Given the description of an element on the screen output the (x, y) to click on. 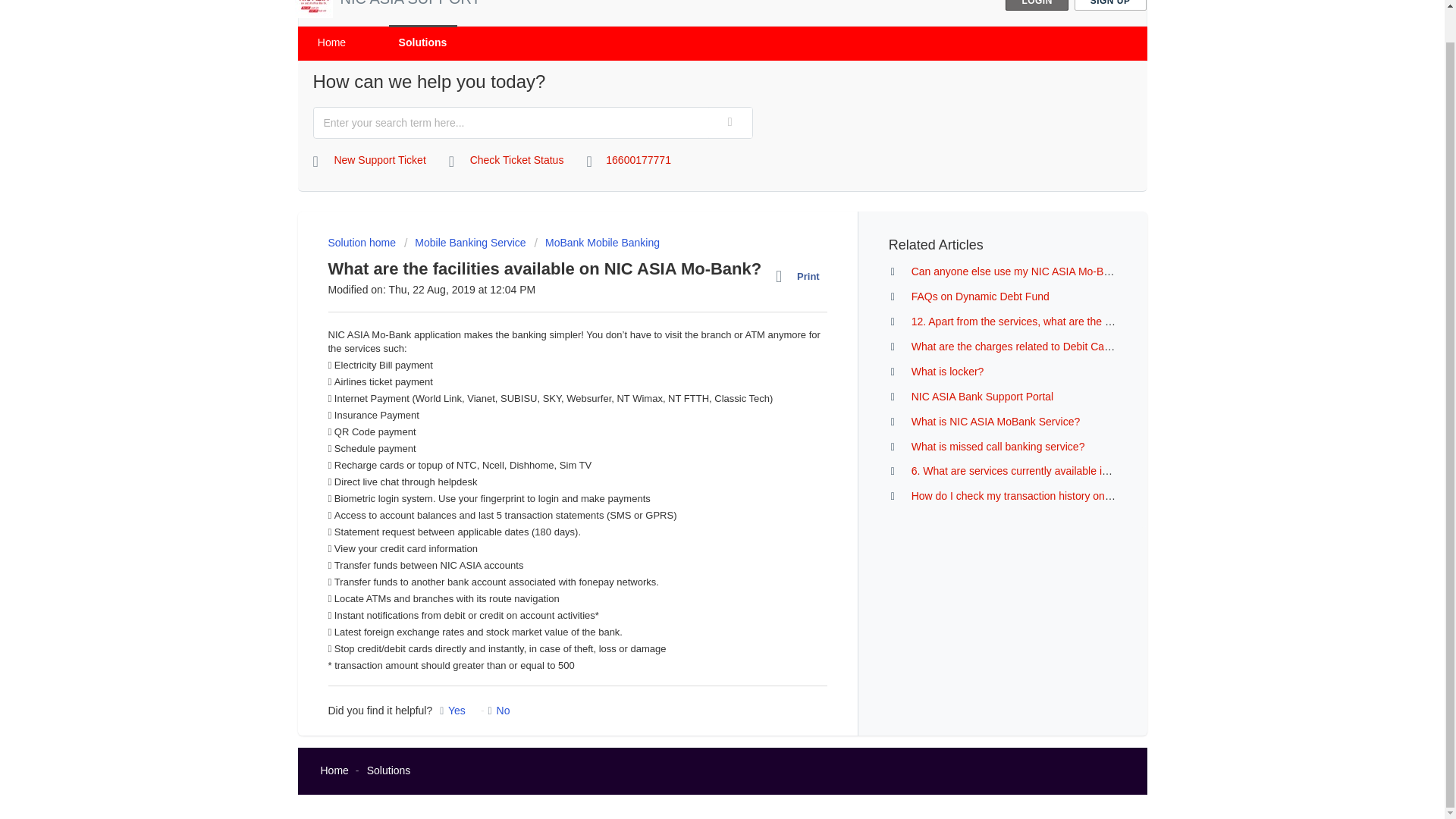
What is NIC ASIA MoBank Service? (995, 421)
What is missed call banking service? (997, 446)
Solutions (388, 770)
Solutions (422, 42)
NIC ASIA Bank Support Portal (982, 396)
Mobile Banking Service (464, 242)
Check Ticket Status (506, 160)
What is locker? (947, 371)
How do I check my transaction history on my NIC ASIA MoBank? (1064, 495)
